Given the description of an element on the screen output the (x, y) to click on. 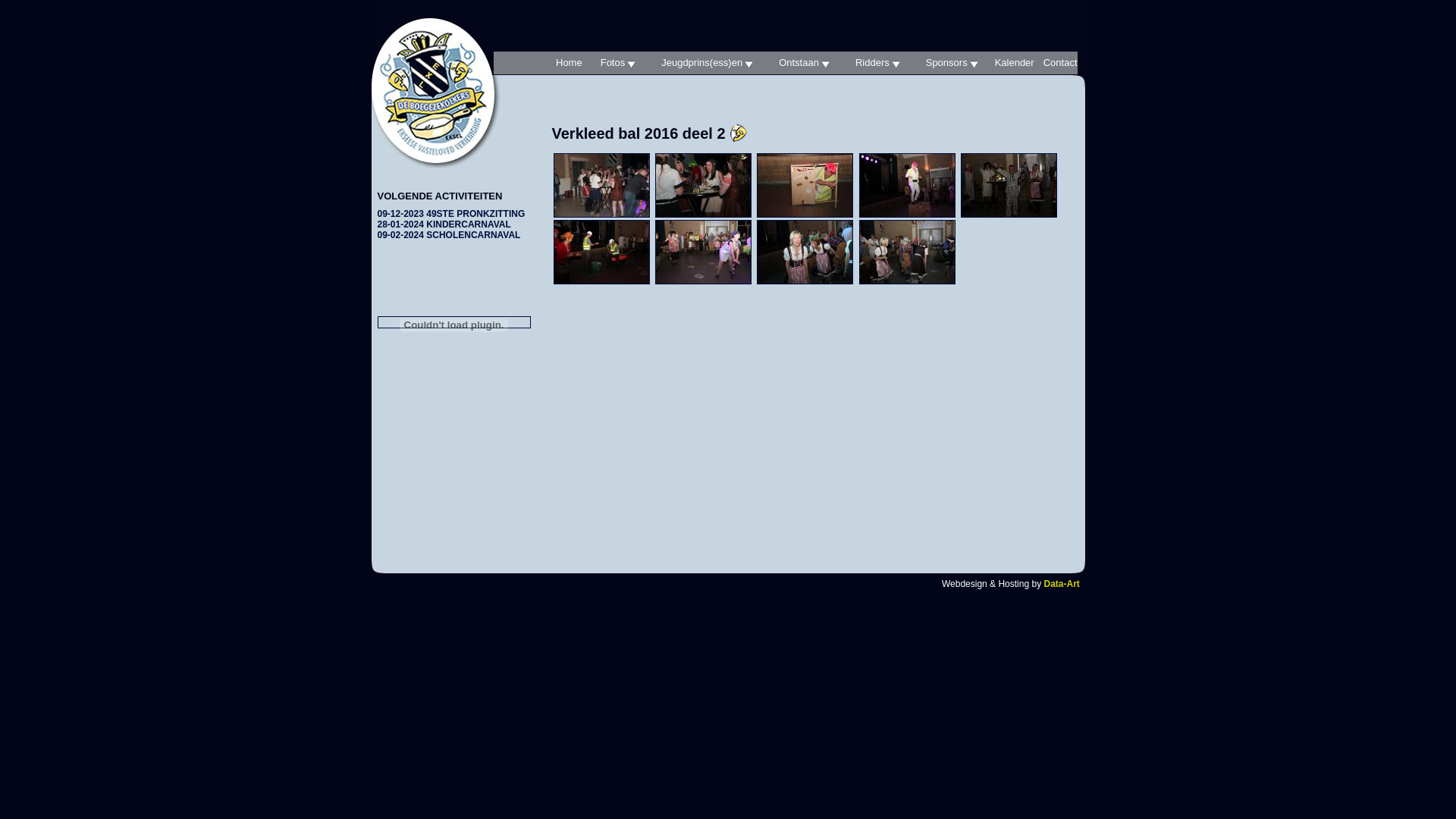
09-12-2023 49STE PRONKZITTING Element type: text (451, 213)
28-01-2024 KINDERCARNAVAL Element type: text (444, 224)
Ridders Element type: text (872, 62)
Fotos Element type: text (612, 62)
Data-Art Element type: text (1061, 583)
Ontstaan Element type: text (798, 62)
Kalender Element type: text (1009, 62)
09-02-2024 SCHOLENCARNAVAL Element type: text (448, 234)
Contact Element type: text (1055, 62)
Jeugdprins(ess)en Element type: text (701, 62)
Home Element type: text (564, 62)
Sponsors Element type: text (946, 62)
